Given the description of an element on the screen output the (x, y) to click on. 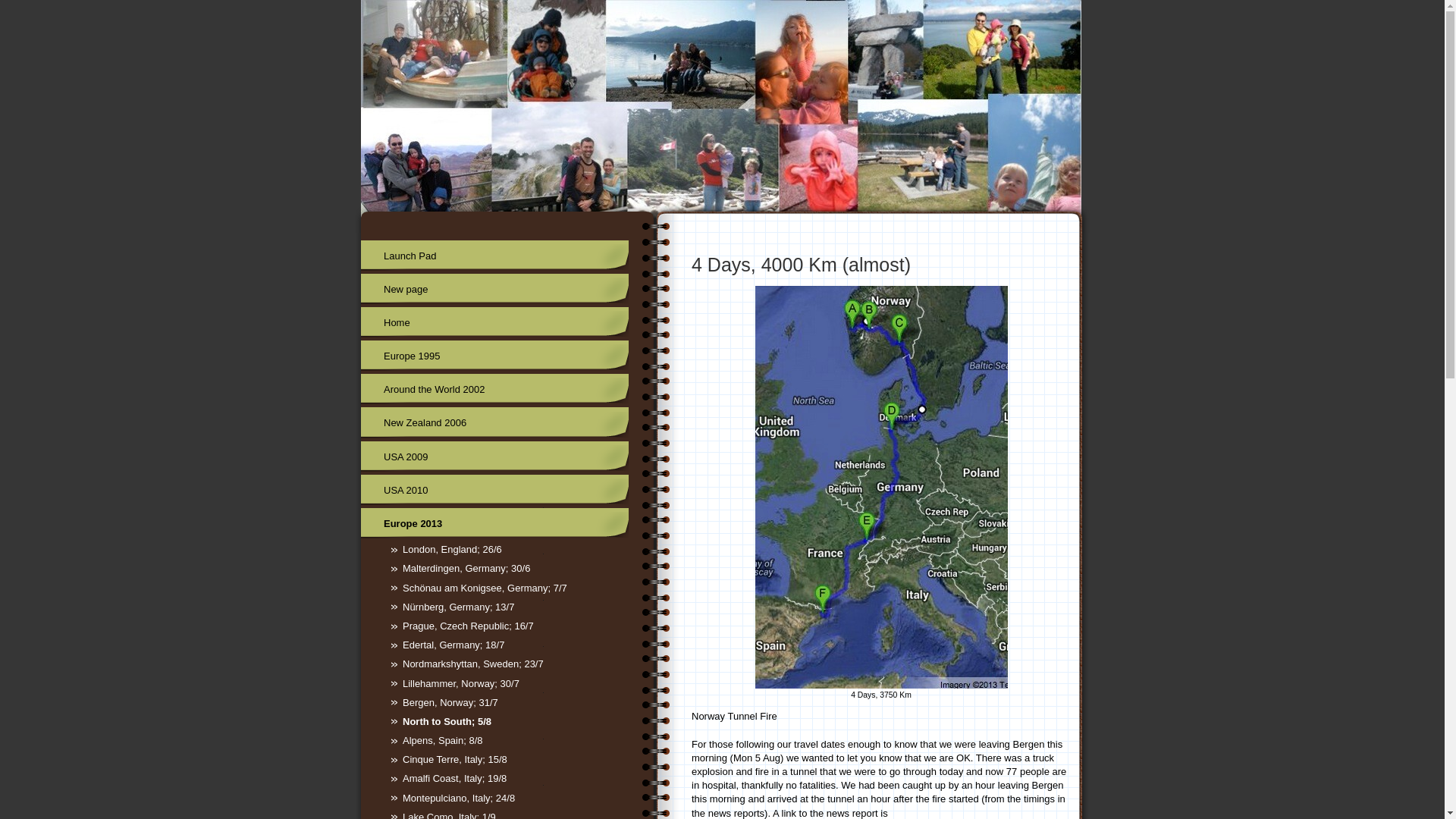
Home (494, 322)
USA 2009 (494, 456)
Europe 1995 (494, 355)
USA 2010 (494, 490)
Europe 2013 (494, 522)
New page (494, 288)
Launch Pad (494, 255)
New Zealand 2006 (494, 422)
Around the World 2002 (494, 388)
